Given the description of an element on the screen output the (x, y) to click on. 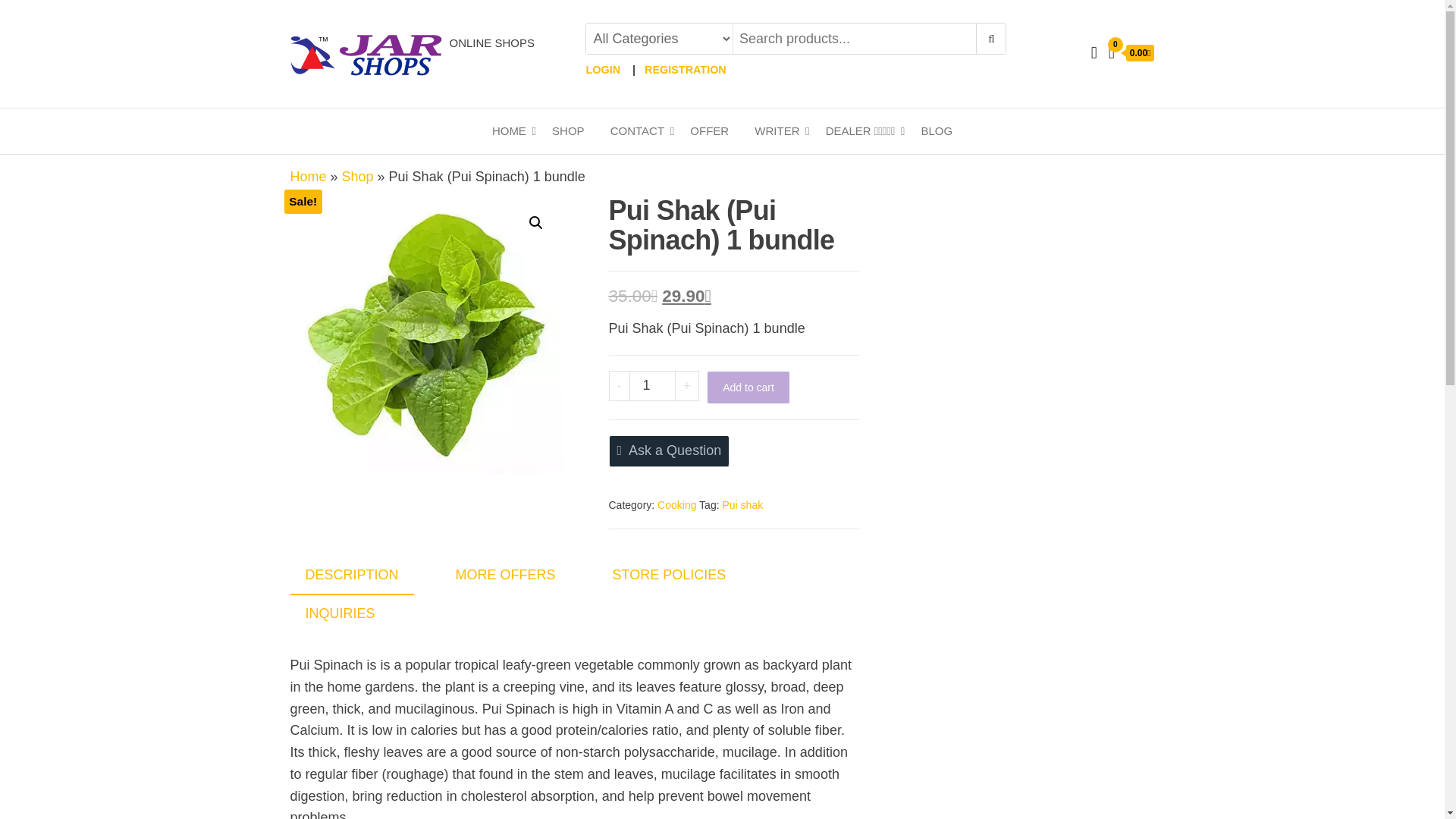
Home (307, 176)
JAR SHOPS (485, 55)
MORE OFFERS (505, 574)
Home (508, 130)
REGISTRATION (685, 69)
Shop (358, 176)
LOGIN (602, 69)
SHOP (567, 130)
My Account (1093, 52)
BLOG (935, 130)
CONTACT (636, 130)
Contact (636, 130)
DESCRIPTION (351, 575)
Add to cart (748, 387)
OFFER (708, 130)
